Given the description of an element on the screen output the (x, y) to click on. 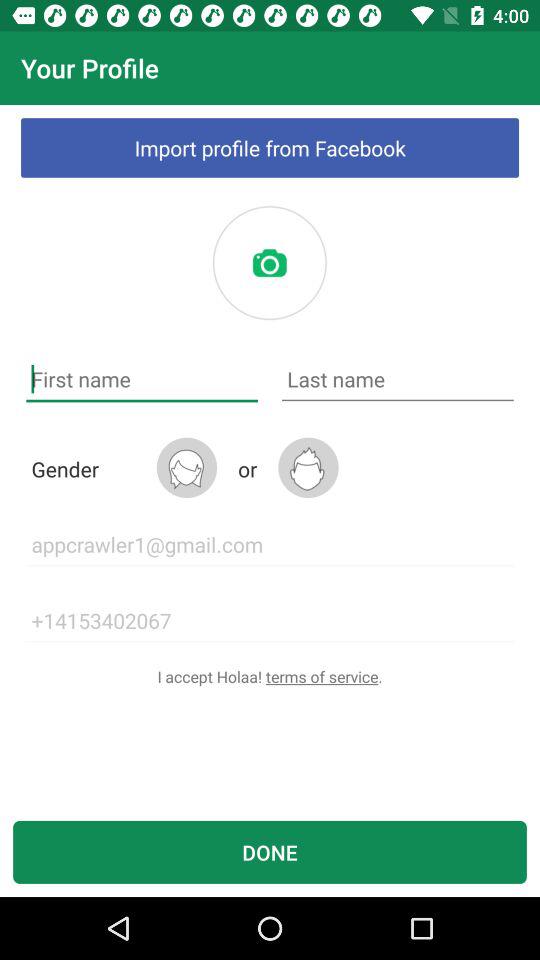
last name filling option (397, 379)
